Given the description of an element on the screen output the (x, y) to click on. 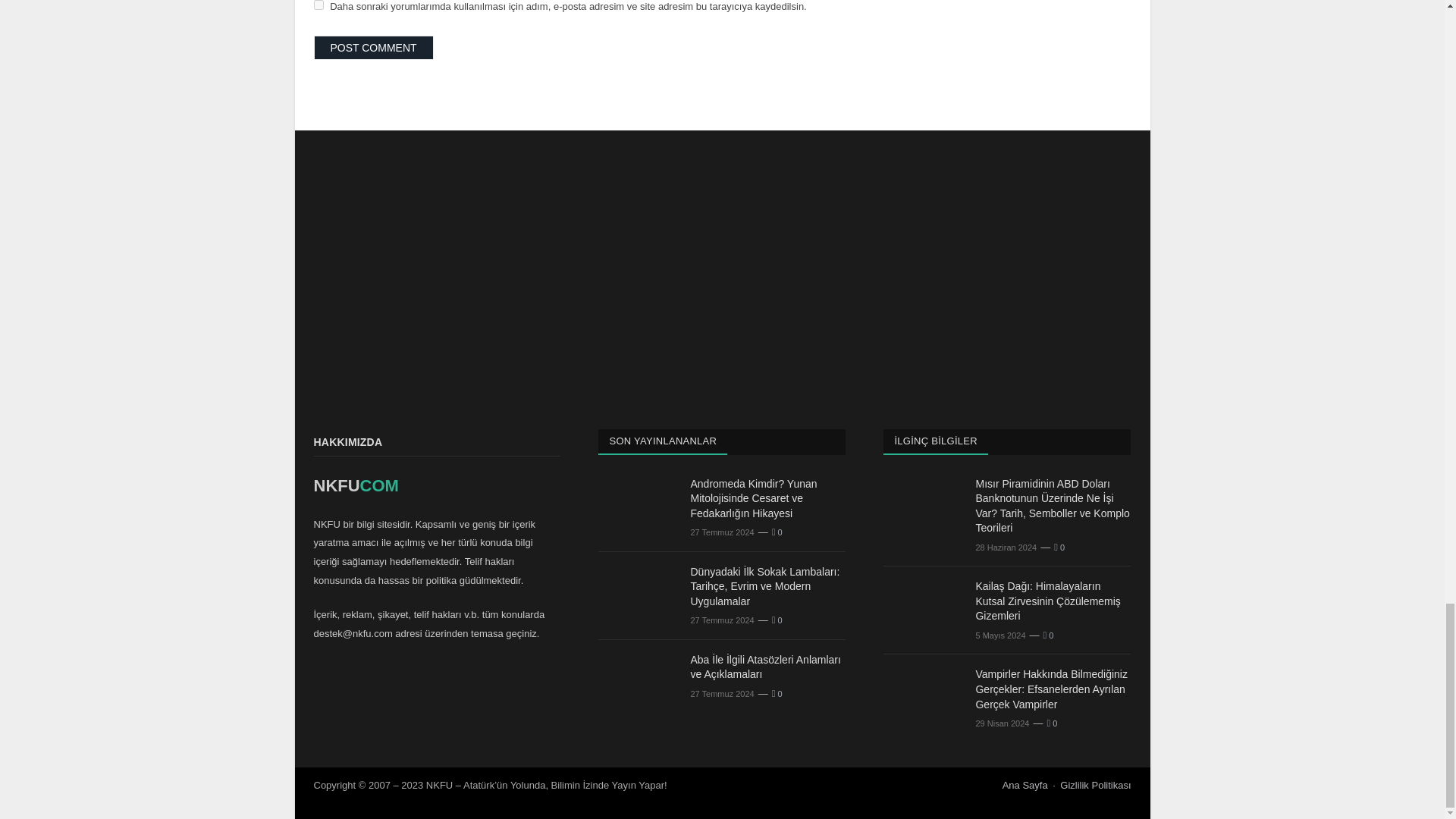
Post Comment (373, 47)
Post Comment (373, 47)
yes (318, 4)
